Given the description of an element on the screen output the (x, y) to click on. 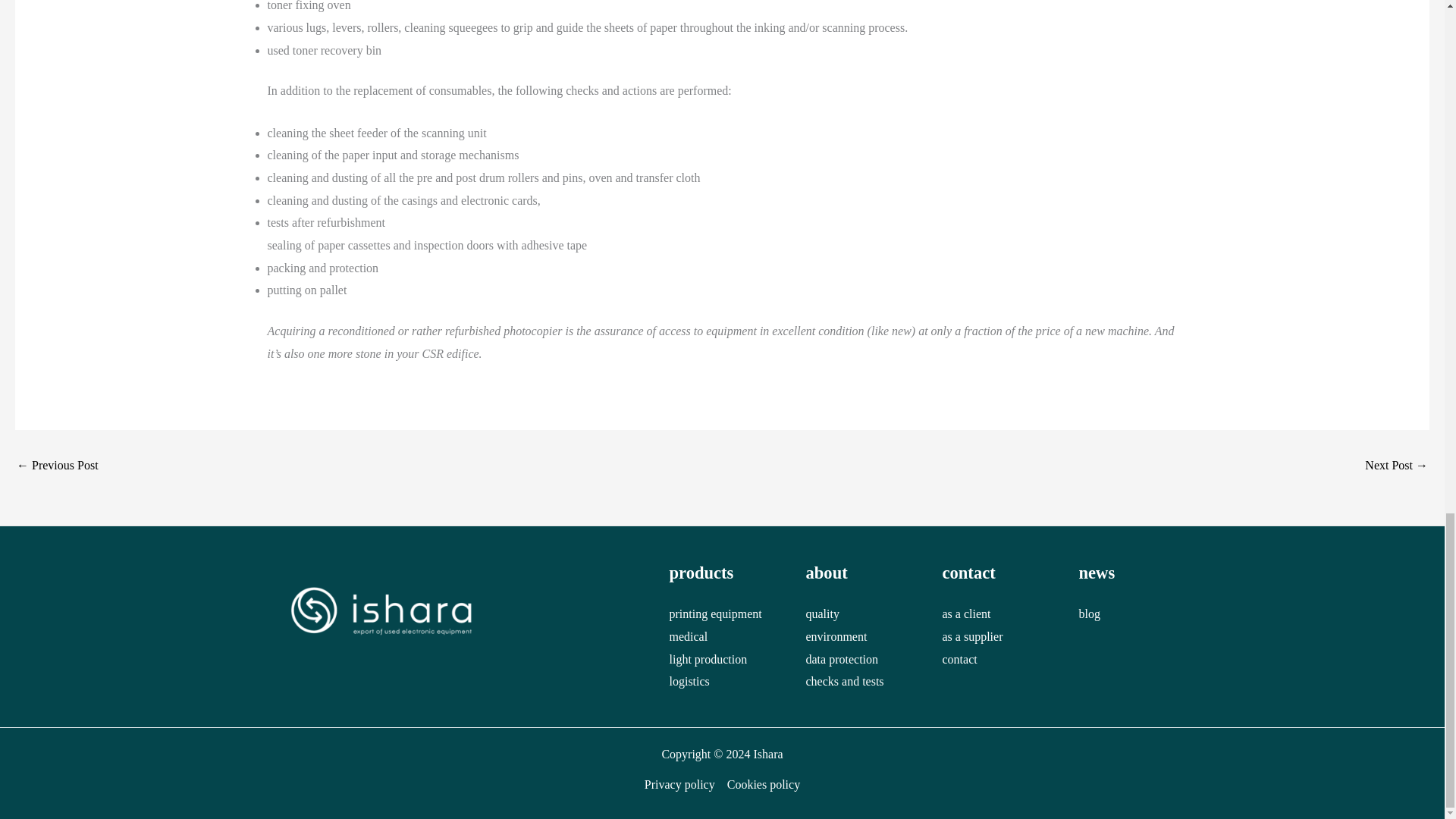
Avoiding printer breakdowns: our tips (1396, 465)
The photocopier maintenance contract (57, 465)
